Given the description of an element on the screen output the (x, y) to click on. 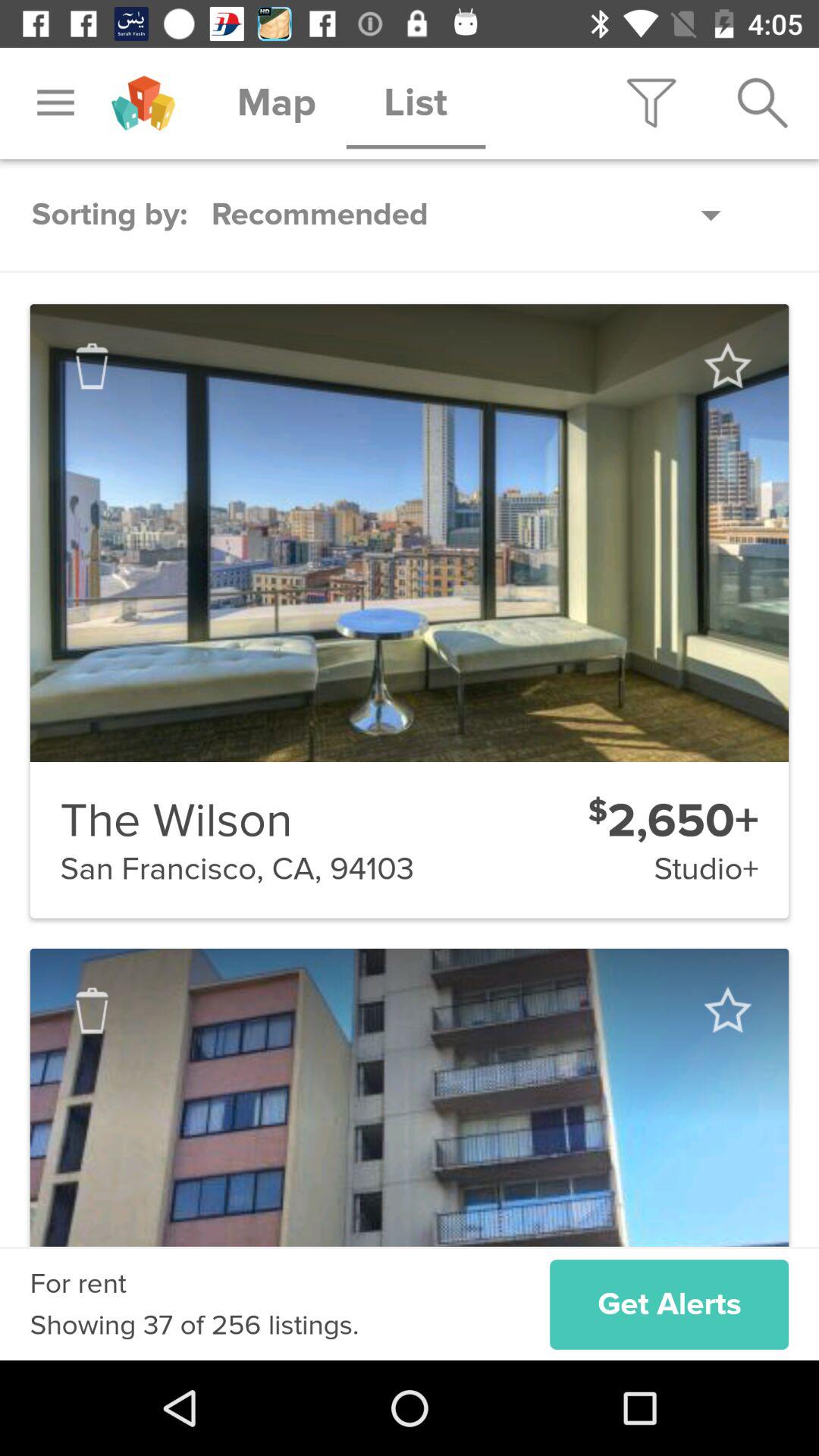
add to favorites (726, 1010)
